Given the description of an element on the screen output the (x, y) to click on. 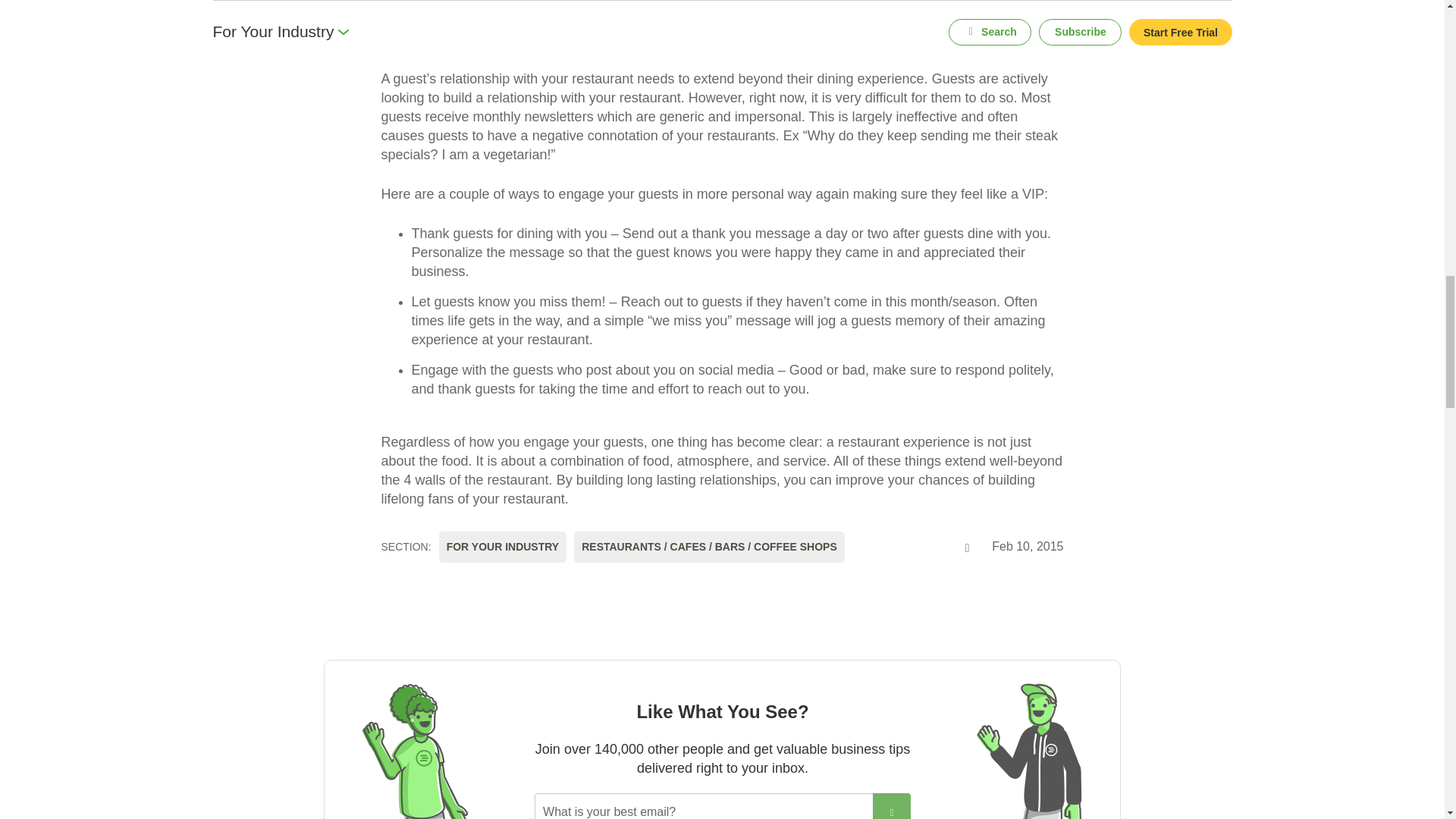
Email Address (703, 806)
Submit Email (891, 806)
